Given the description of an element on the screen output the (x, y) to click on. 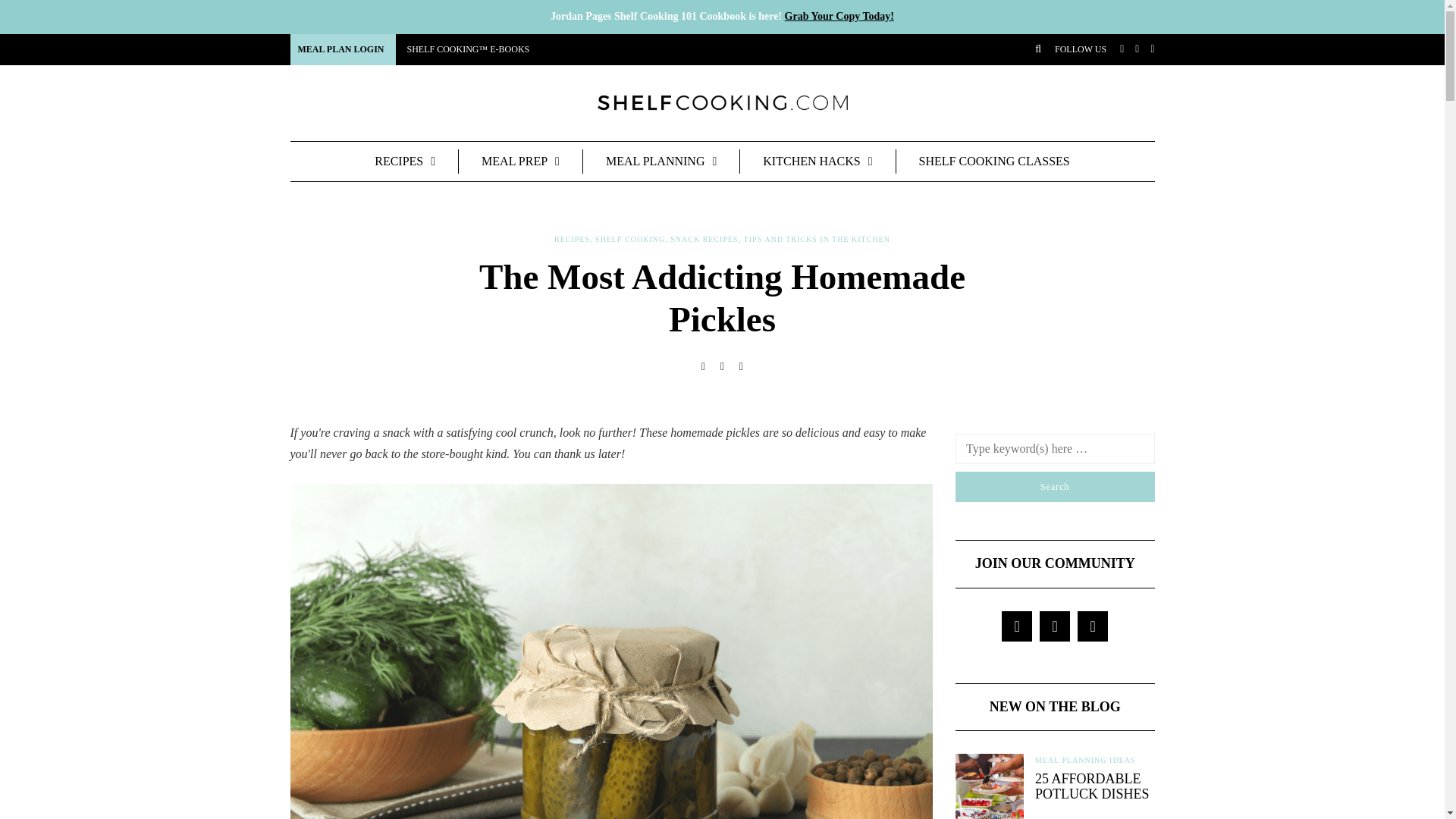
KITCHEN HACKS (817, 160)
MEAL PLANNING (661, 160)
Pin this (741, 366)
Tweet this (722, 366)
MEAL PREP (520, 160)
SHELF COOKING CLASSES (994, 160)
SHELF COOKING (630, 239)
Share with Facebook (703, 366)
Grab Your Copy Today! (838, 16)
RECIPES (571, 239)
